Given the description of an element on the screen output the (x, y) to click on. 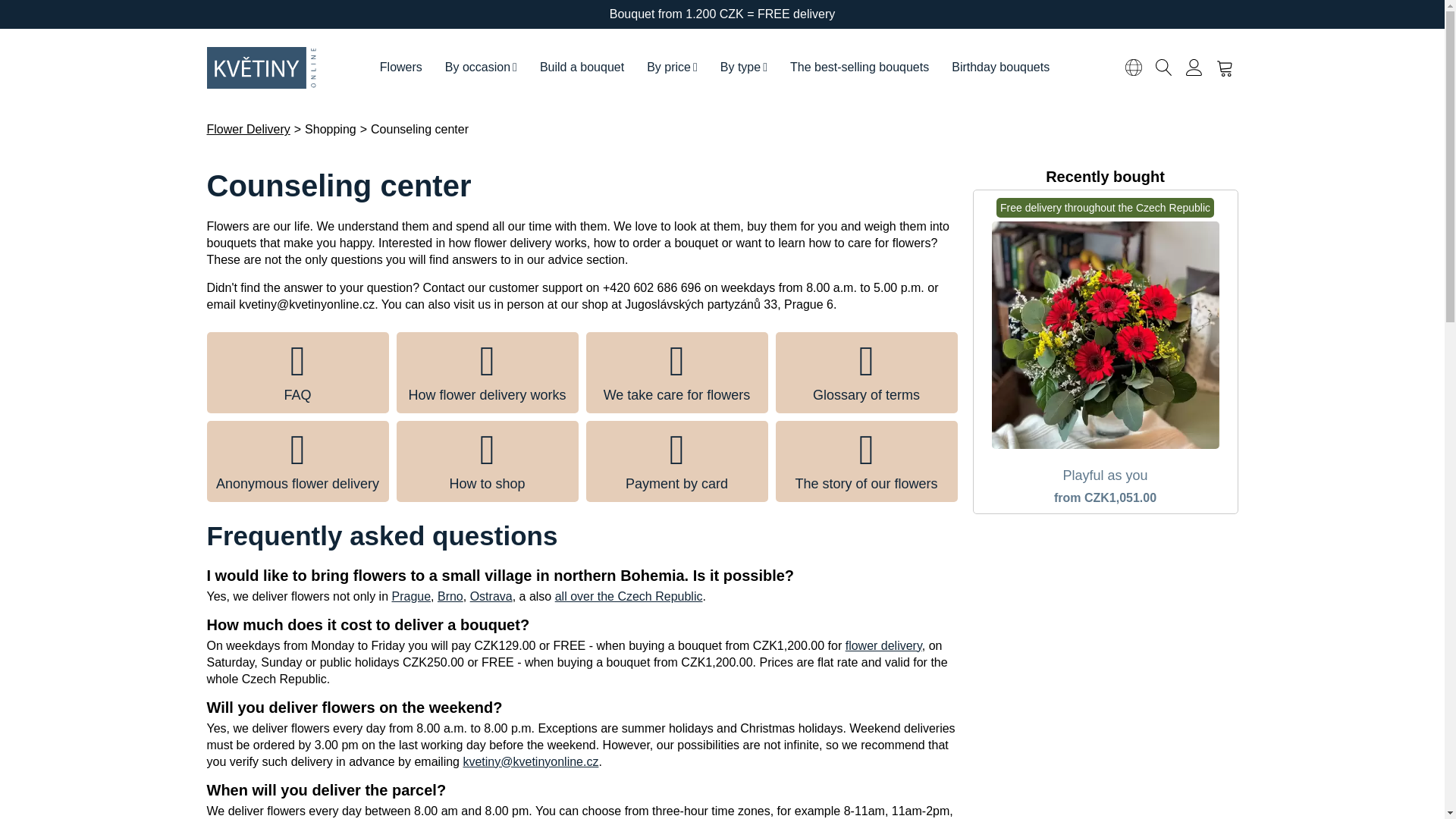
We take care for flowers (676, 372)
How to shop (487, 461)
Payment by card (676, 461)
Counseling center (419, 128)
Flower Delivery (247, 128)
By type (743, 67)
By price (671, 67)
Birthday bouquets (1000, 67)
The best-selling bouquets (859, 67)
Flowers (400, 67)
